Given the description of an element on the screen output the (x, y) to click on. 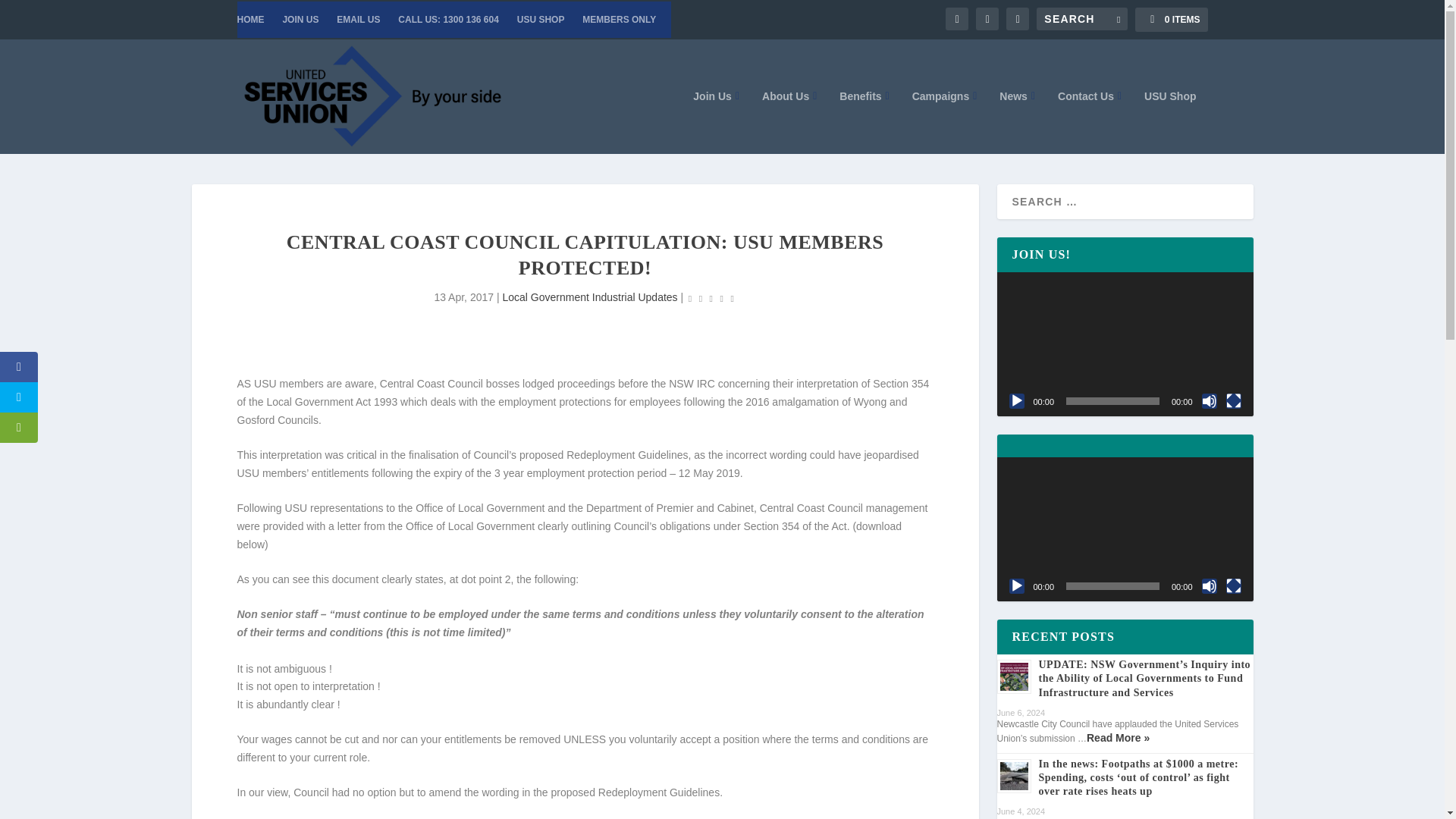
0 ITEMS (1171, 19)
USU SHOP (540, 19)
0 Items in Cart (1171, 19)
Search for: (1081, 18)
JOIN US (300, 19)
CALL US: 1300 136 604 (448, 19)
Rating: 0.00 (710, 298)
EMAIL US (358, 19)
MEMBERS ONLY (619, 19)
